Given the description of an element on the screen output the (x, y) to click on. 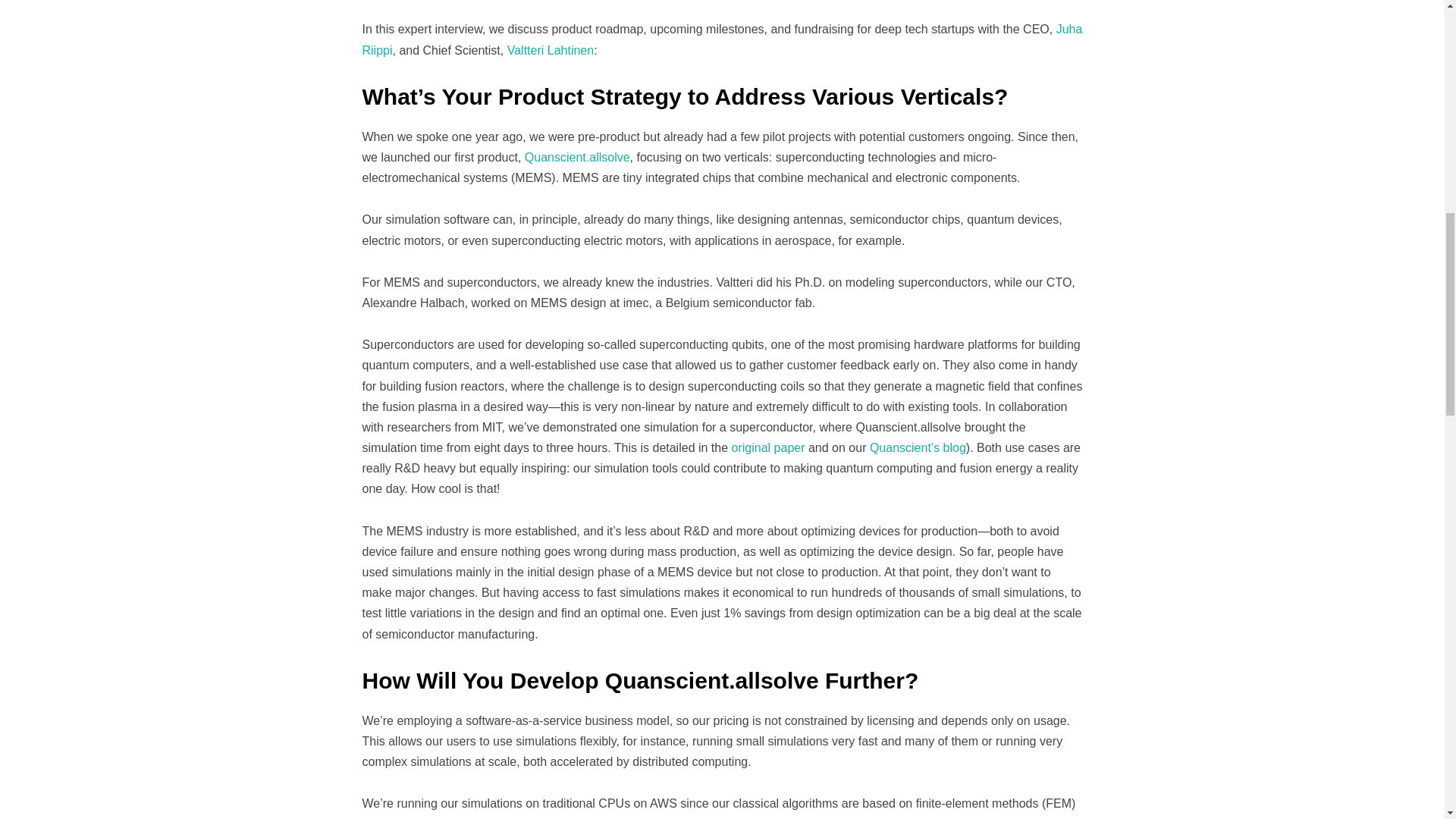
original paper (768, 447)
Juha Riippi (722, 39)
Quanscient.allsolve (577, 156)
Valtteri Lahtinen (550, 50)
